Given the description of an element on the screen output the (x, y) to click on. 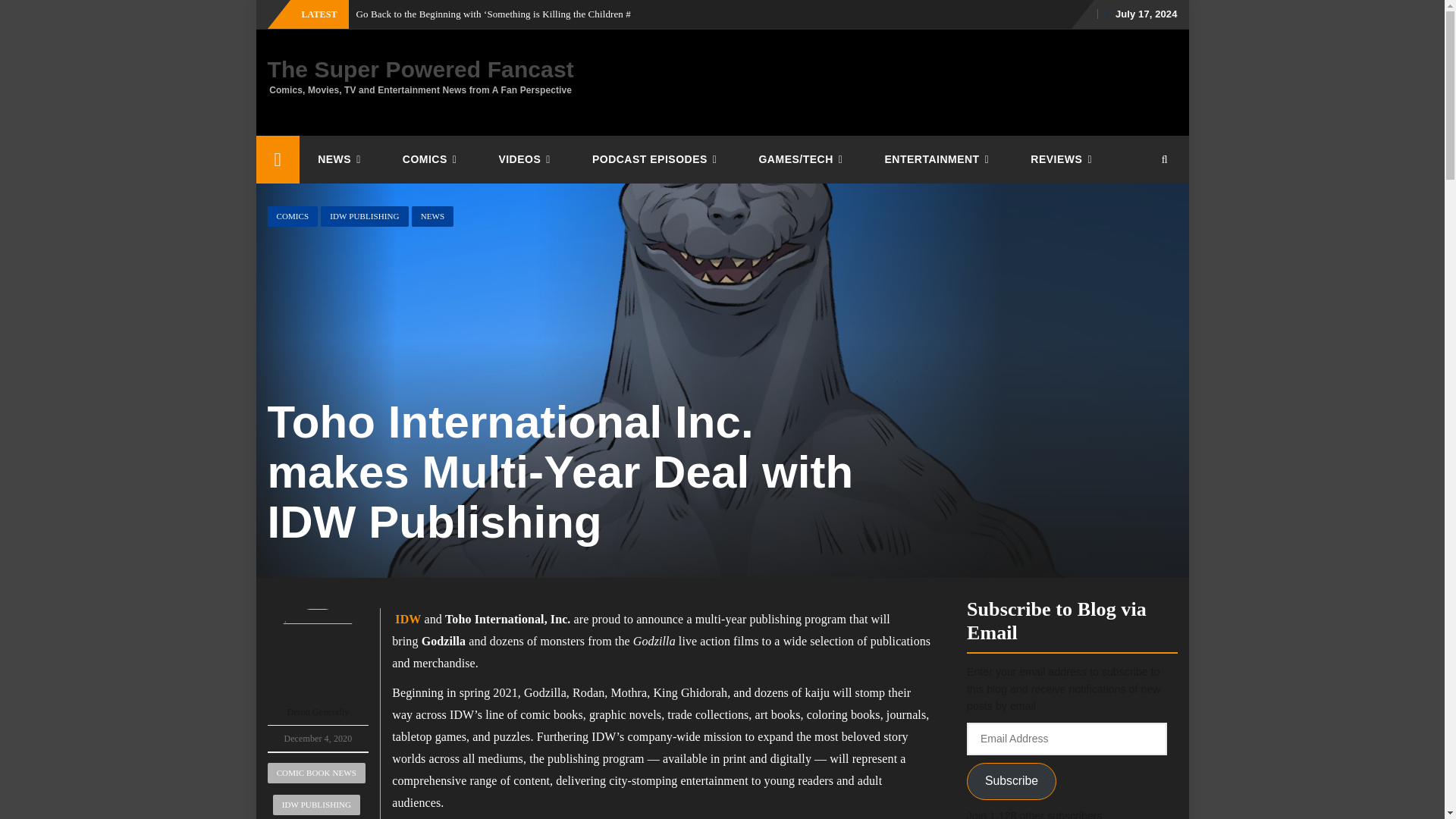
PODCAST EPISODES (657, 159)
The Super Powered Fancast (419, 68)
The Super Powered Fancast (277, 159)
NEWS (341, 159)
VIDEOS (526, 159)
COMICS (432, 159)
The Super Powered Fancast (419, 68)
